Given the description of an element on the screen output the (x, y) to click on. 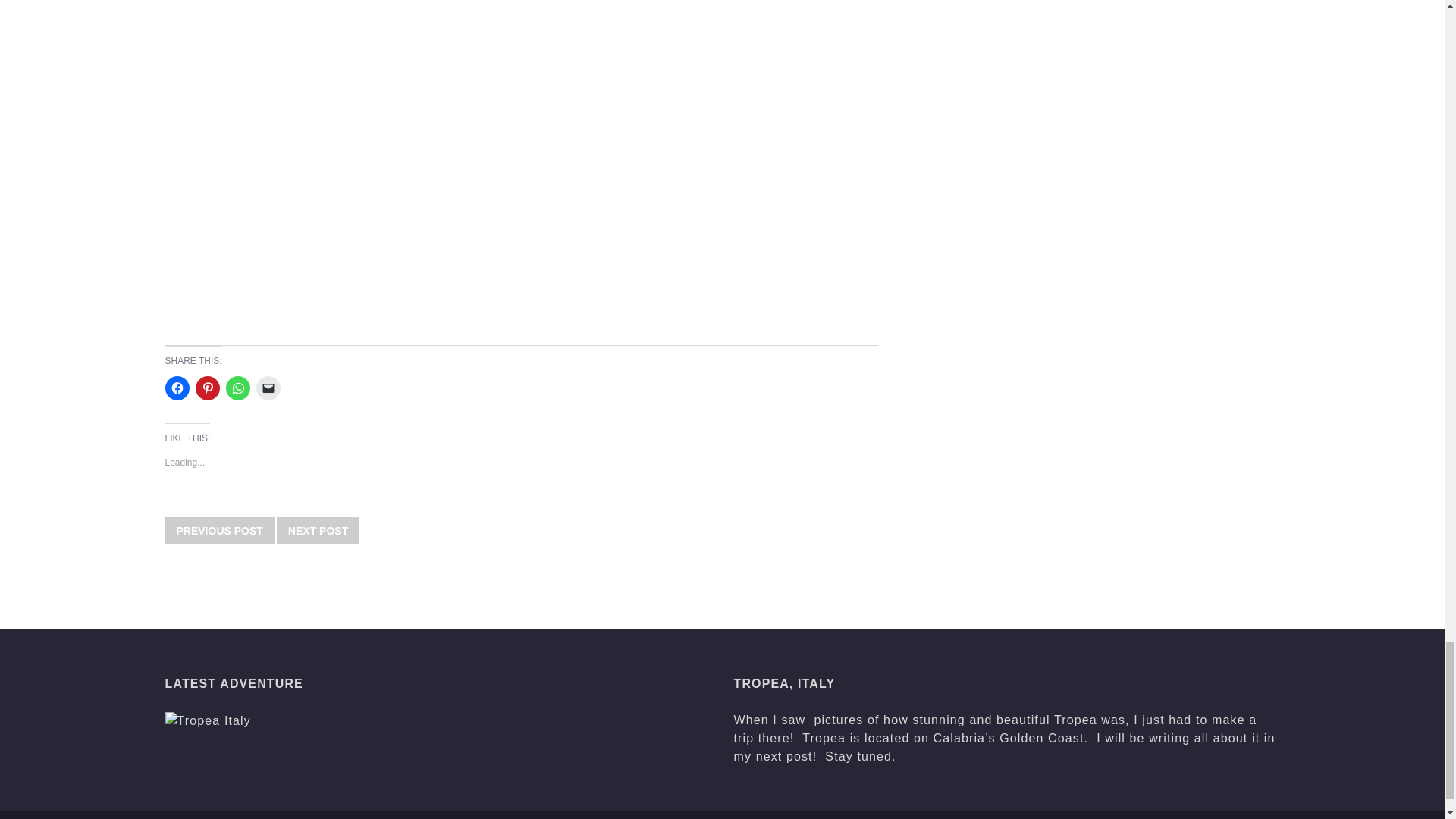
Click to share on Pinterest (207, 387)
Click to email a link to a friend (268, 387)
image (207, 720)
Click to share on WhatsApp (237, 387)
Click to share on Facebook (177, 387)
